Given the description of an element on the screen output the (x, y) to click on. 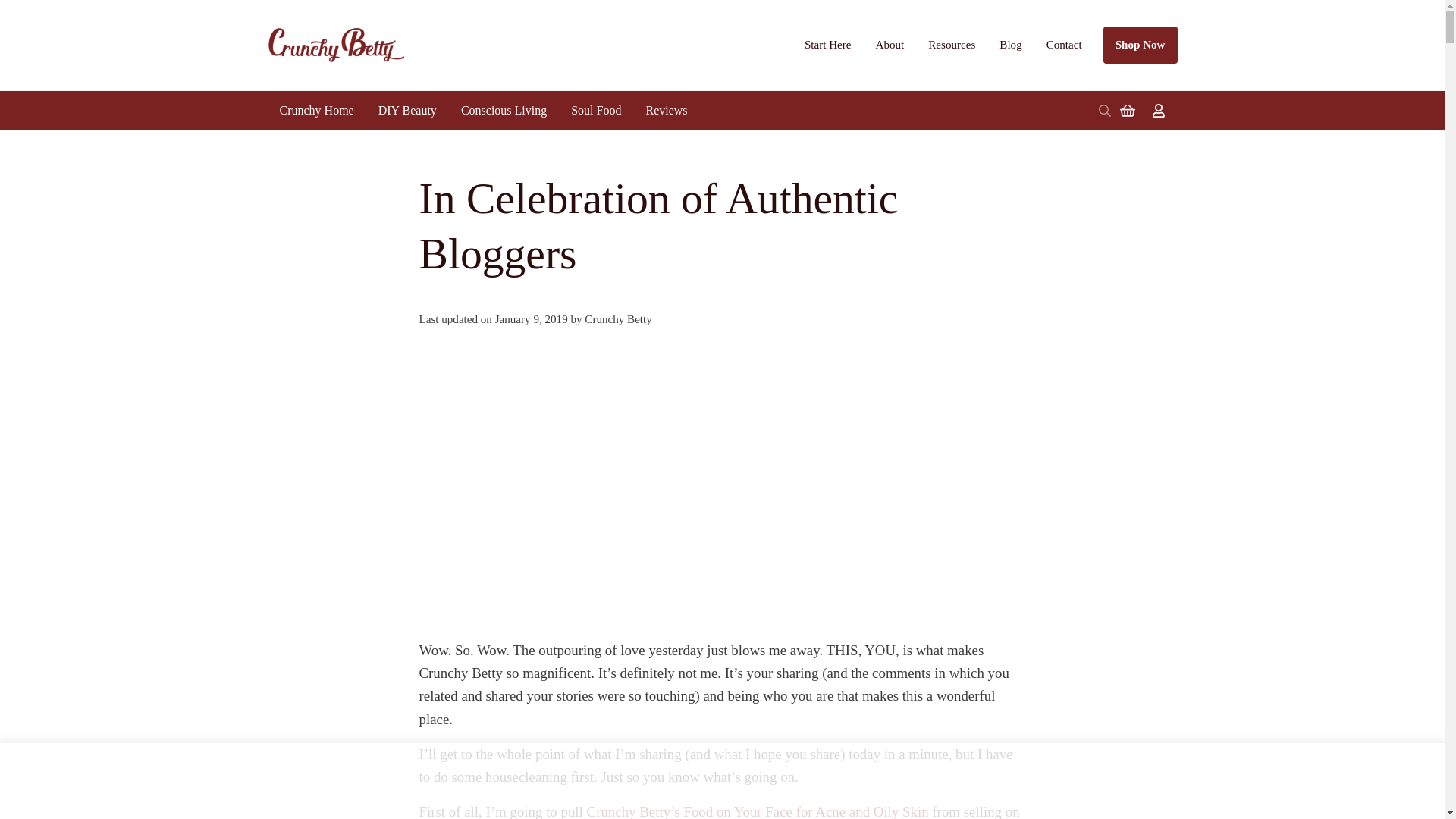
Conscious Living (503, 110)
Contact (1063, 44)
Start Here (827, 44)
About (890, 44)
Resources (951, 44)
Reviews (665, 110)
Blog (1010, 44)
Crunchy Home (315, 110)
DIY Beauty (407, 110)
